Given the description of an element on the screen output the (x, y) to click on. 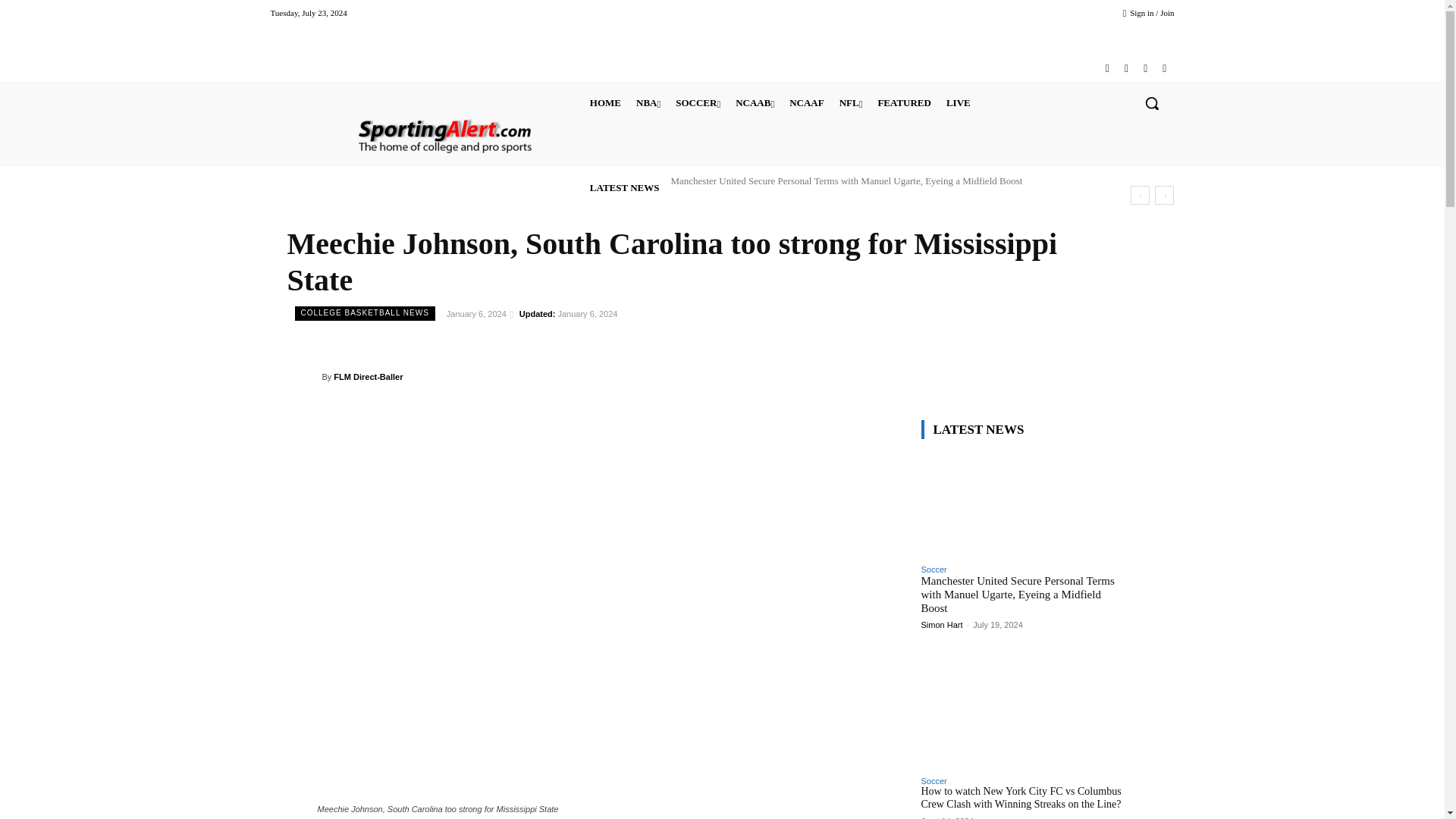
Twitter (1144, 67)
Facebook (1106, 67)
Youtube (1163, 67)
Instagram (1125, 67)
